Given the description of an element on the screen output the (x, y) to click on. 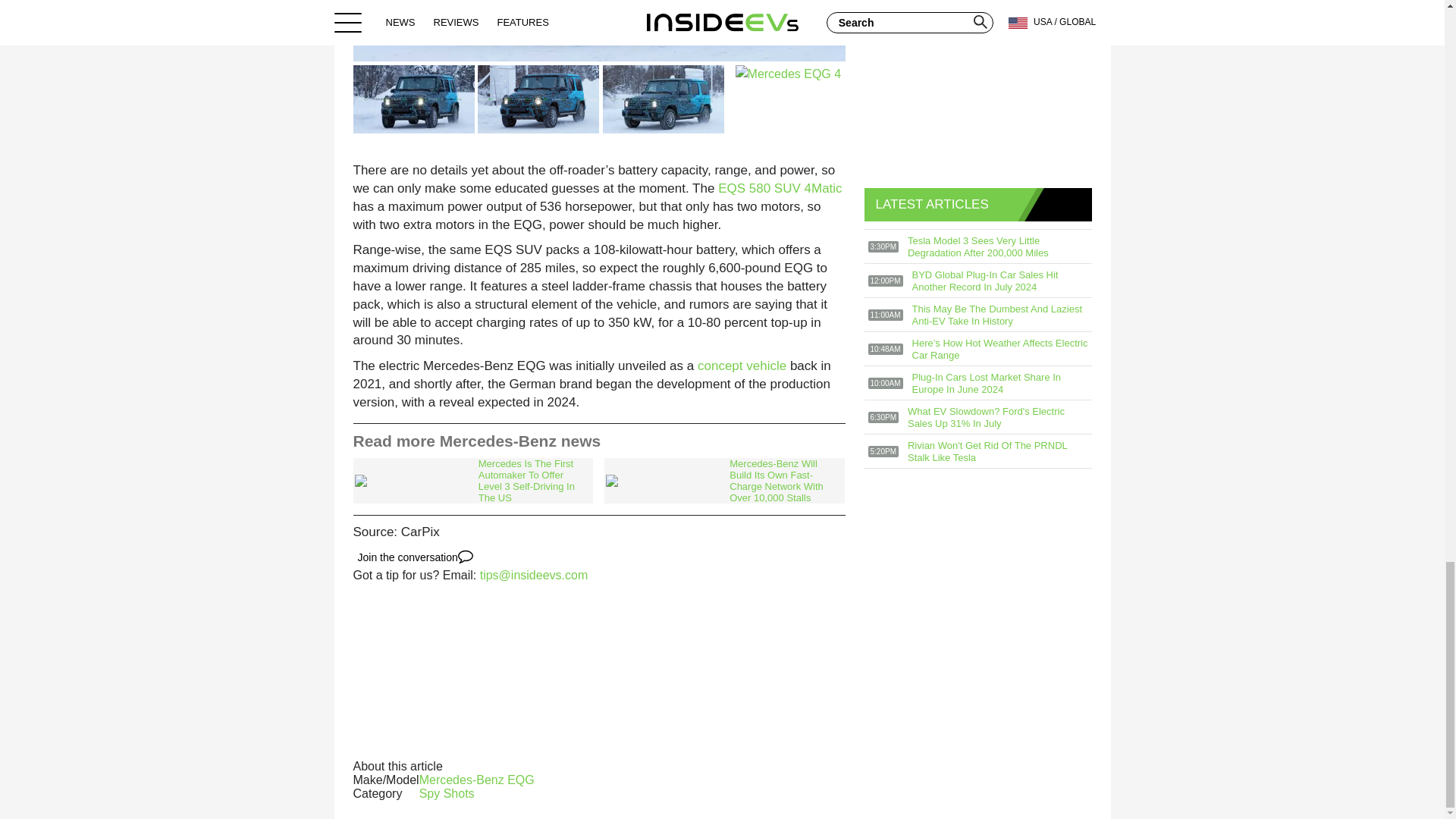
EQS 580 SUV 4Matic (779, 187)
concept vehicle (741, 365)
